Given the description of an element on the screen output the (x, y) to click on. 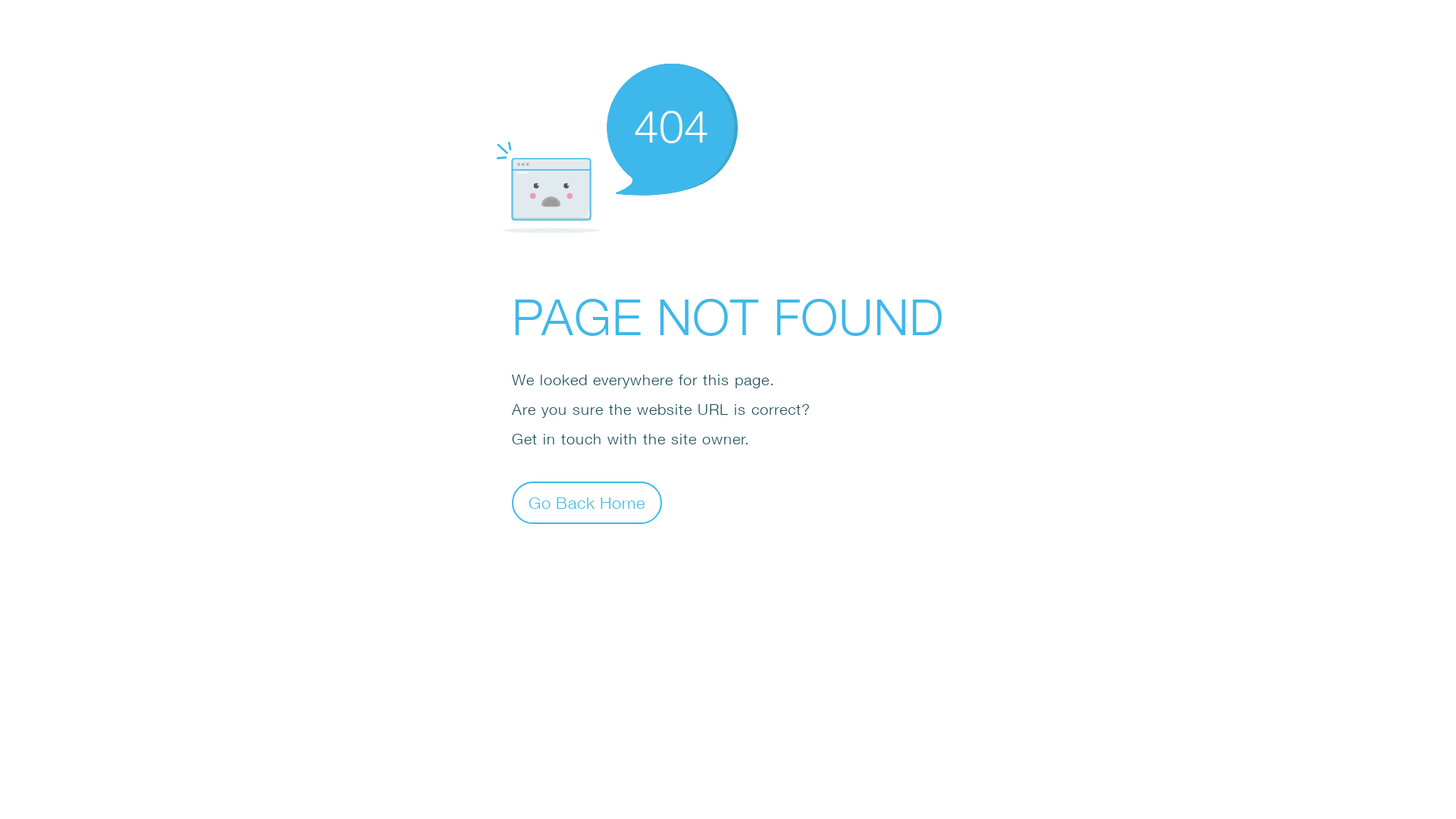
Go Back Home Element type: text (586, 502)
